Given the description of an element on the screen output the (x, y) to click on. 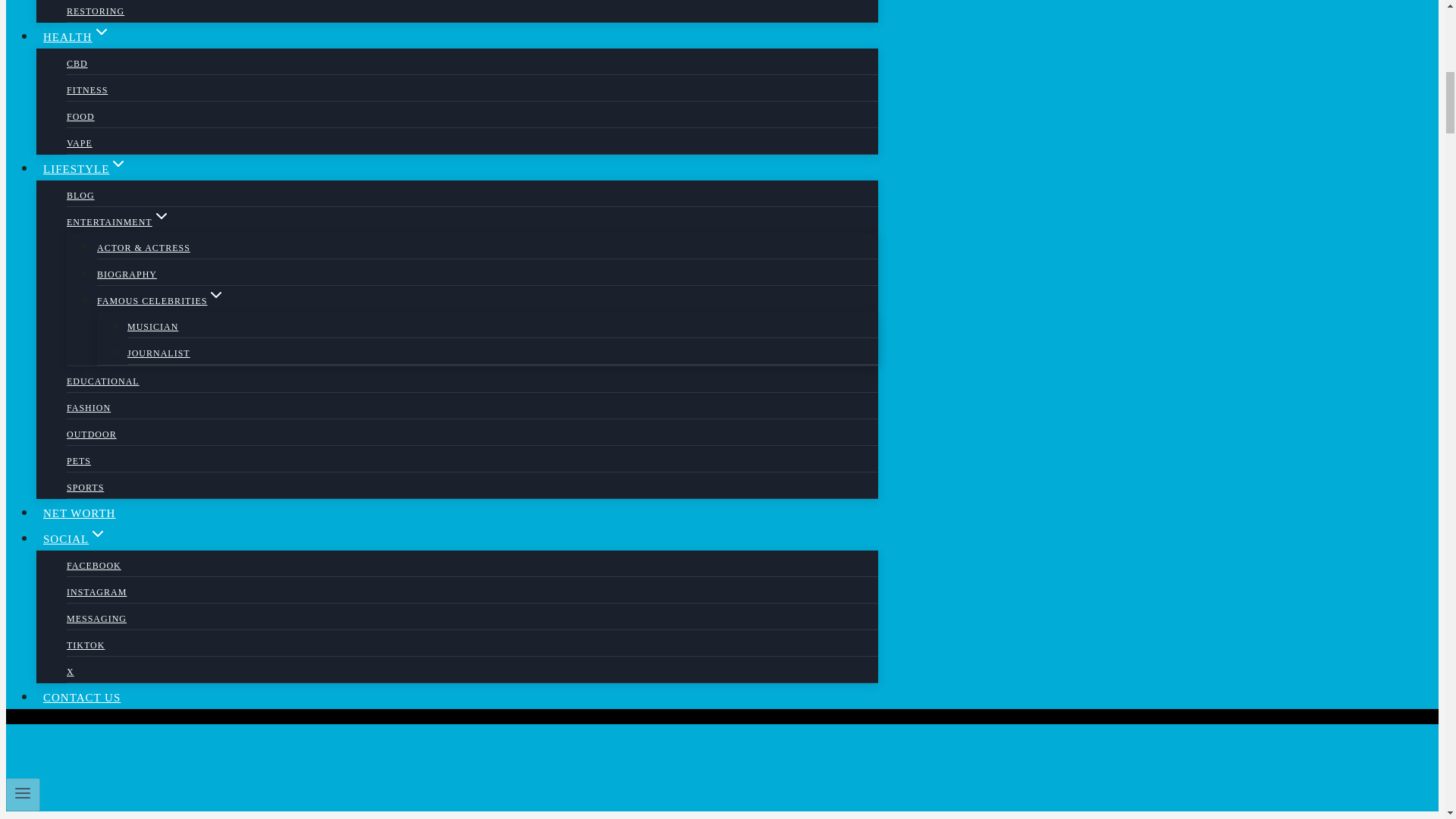
LIFESTYLEEXPAND (84, 168)
Toggle Menu (22, 792)
FOOD (80, 116)
ENTERTAINMENTEXPAND (118, 222)
BIOGRAPHY (127, 274)
BLOG (80, 194)
EXPAND (97, 533)
EXPAND (118, 163)
CBD (76, 63)
RESTORING (94, 12)
EXPAND (161, 216)
VAPE (79, 143)
EXPAND (101, 31)
FITNESS (86, 90)
HEALTHEXPAND (76, 36)
